Given the description of an element on the screen output the (x, y) to click on. 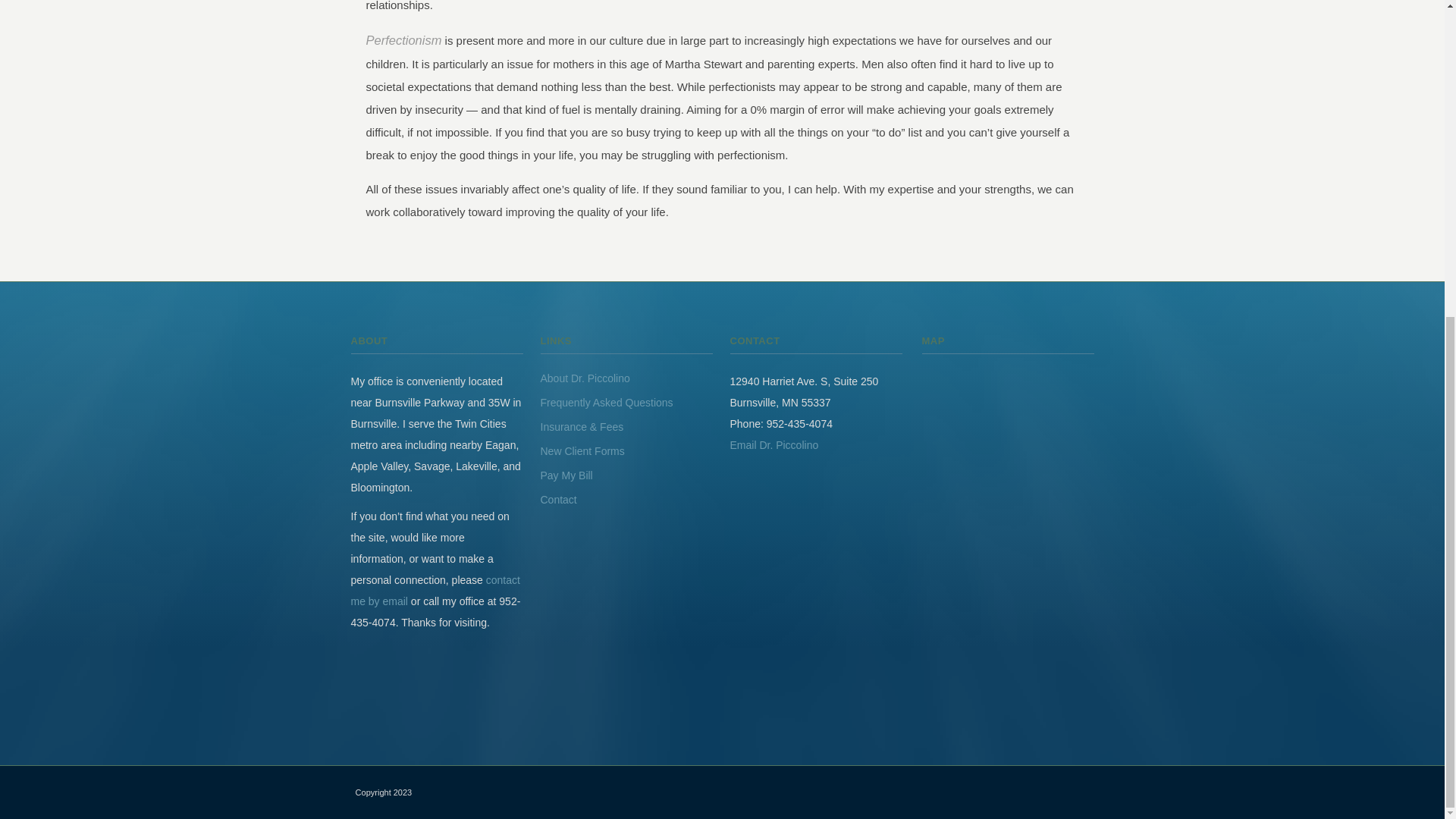
Email Dr. Piccolino (773, 444)
contact me by email (434, 590)
About Dr. Piccolino (584, 378)
New Client Forms (582, 451)
Contact (558, 499)
Pay My Bill (566, 475)
Frequently Asked Questions (606, 402)
